Given the description of an element on the screen output the (x, y) to click on. 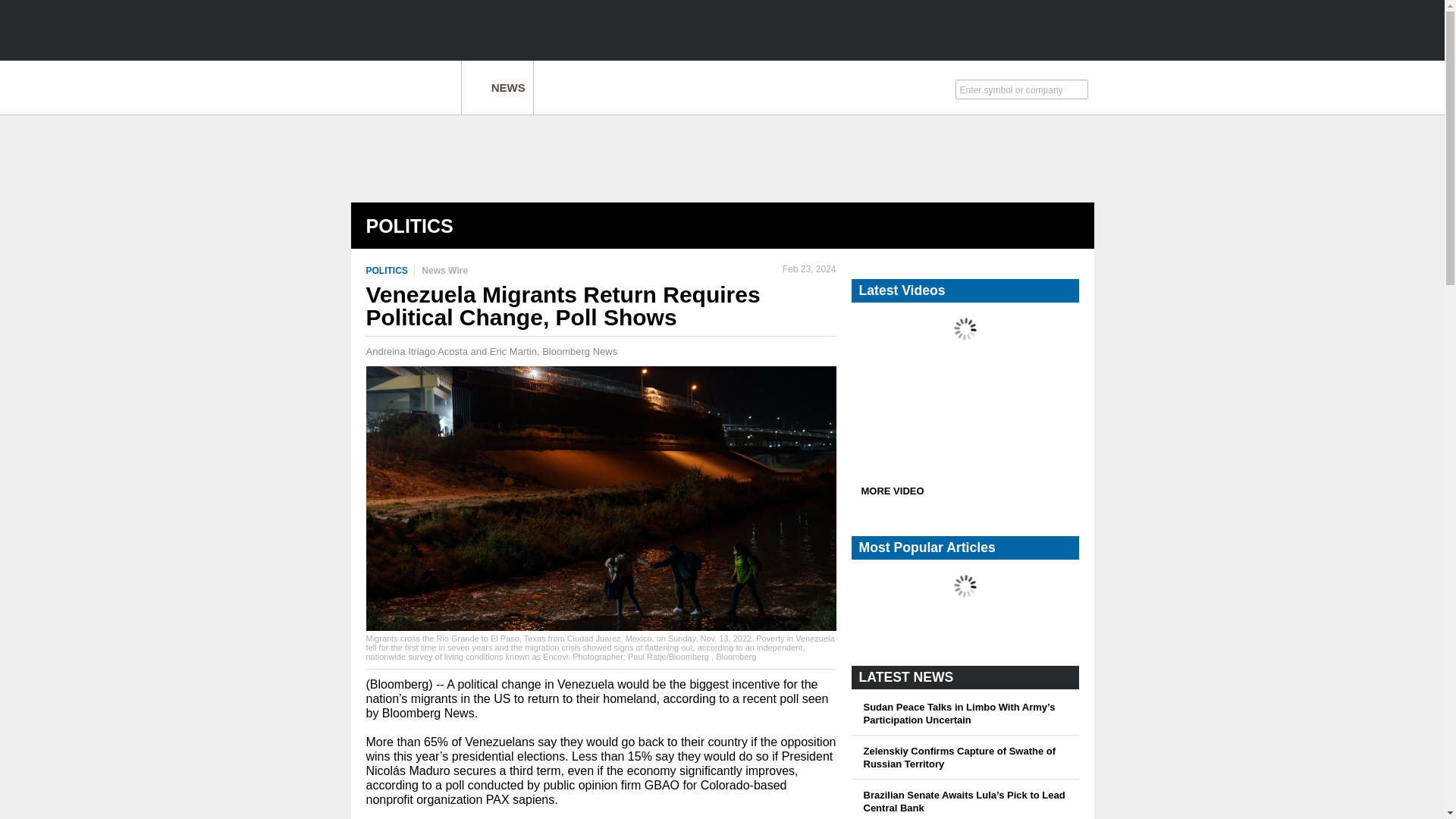
Search (1079, 91)
Enter symbol or company (1014, 88)
NEWS (496, 87)
Enter symbol or company (1014, 88)
Search (1079, 91)
Search (1079, 91)
